Given the description of an element on the screen output the (x, y) to click on. 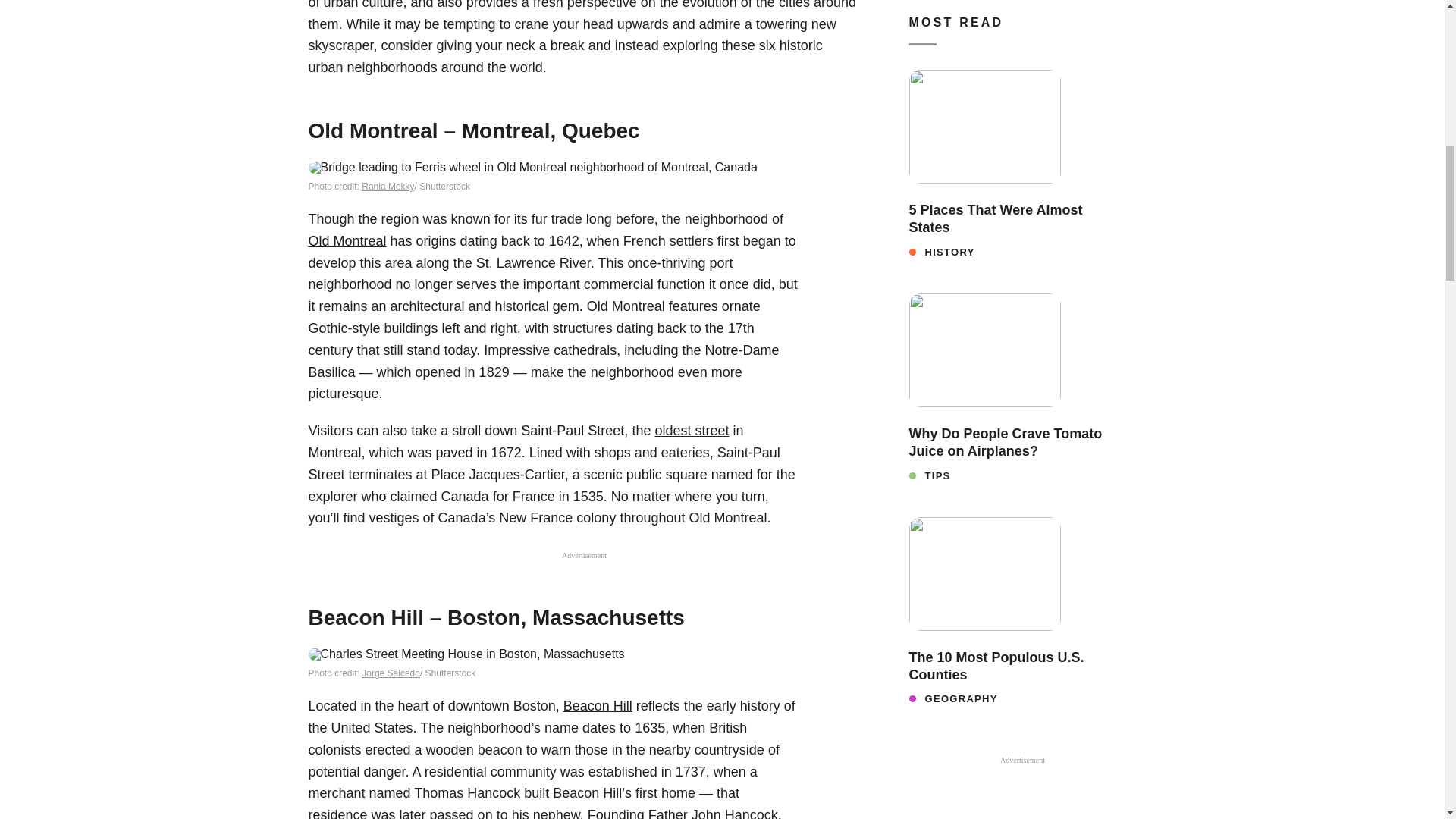
oldest street (691, 430)
Rania Mekky (387, 185)
Beacon Hill (597, 705)
Jorge Salcedo (390, 673)
Old Montreal (346, 240)
